Given the description of an element on the screen output the (x, y) to click on. 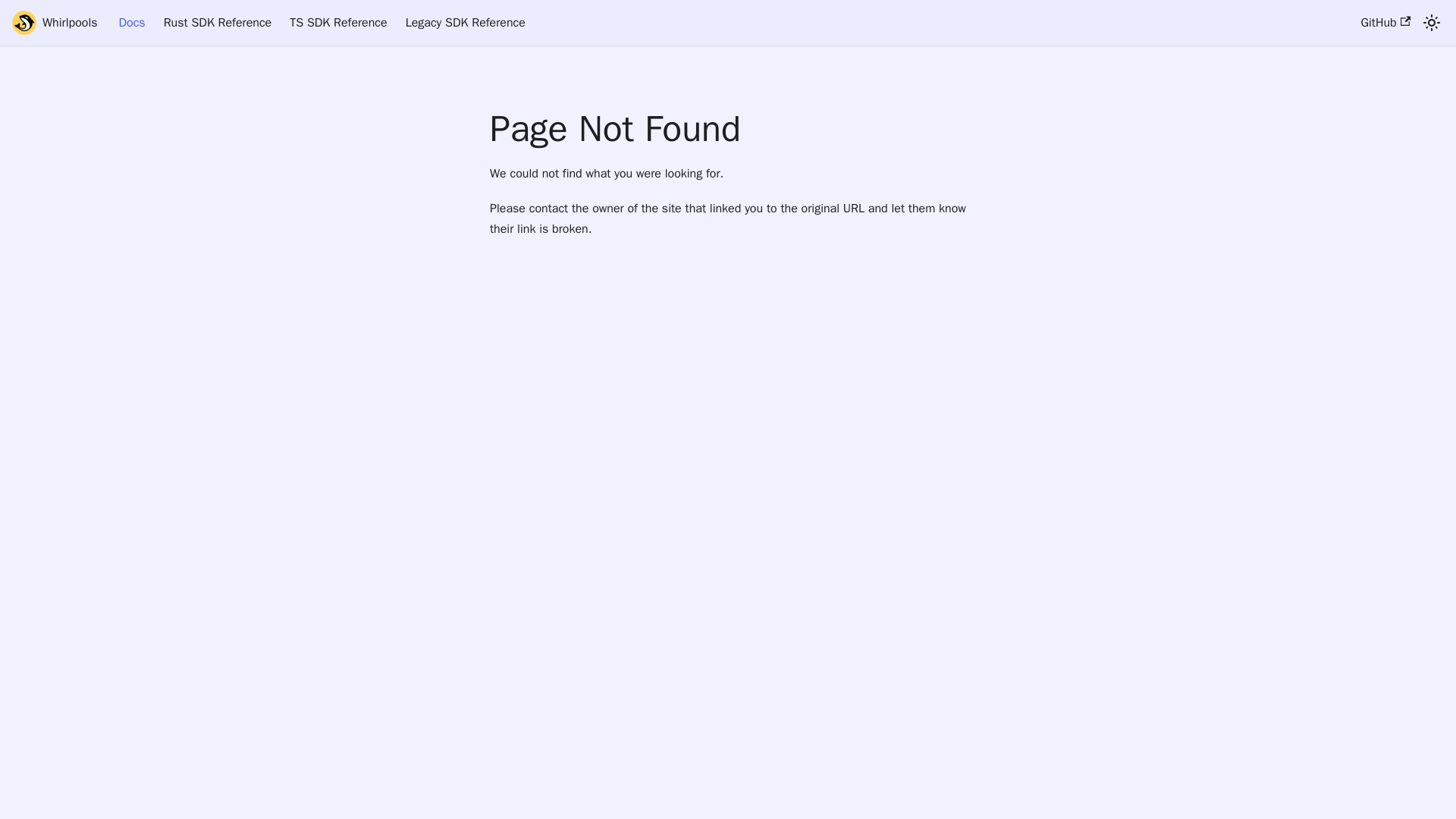
Legacy SDK Reference (465, 22)
Docs (132, 22)
Whirlpools (54, 22)
GitHub (1385, 22)
TS SDK Reference (338, 22)
Rust SDK Reference (217, 22)
